Given the description of an element on the screen output the (x, y) to click on. 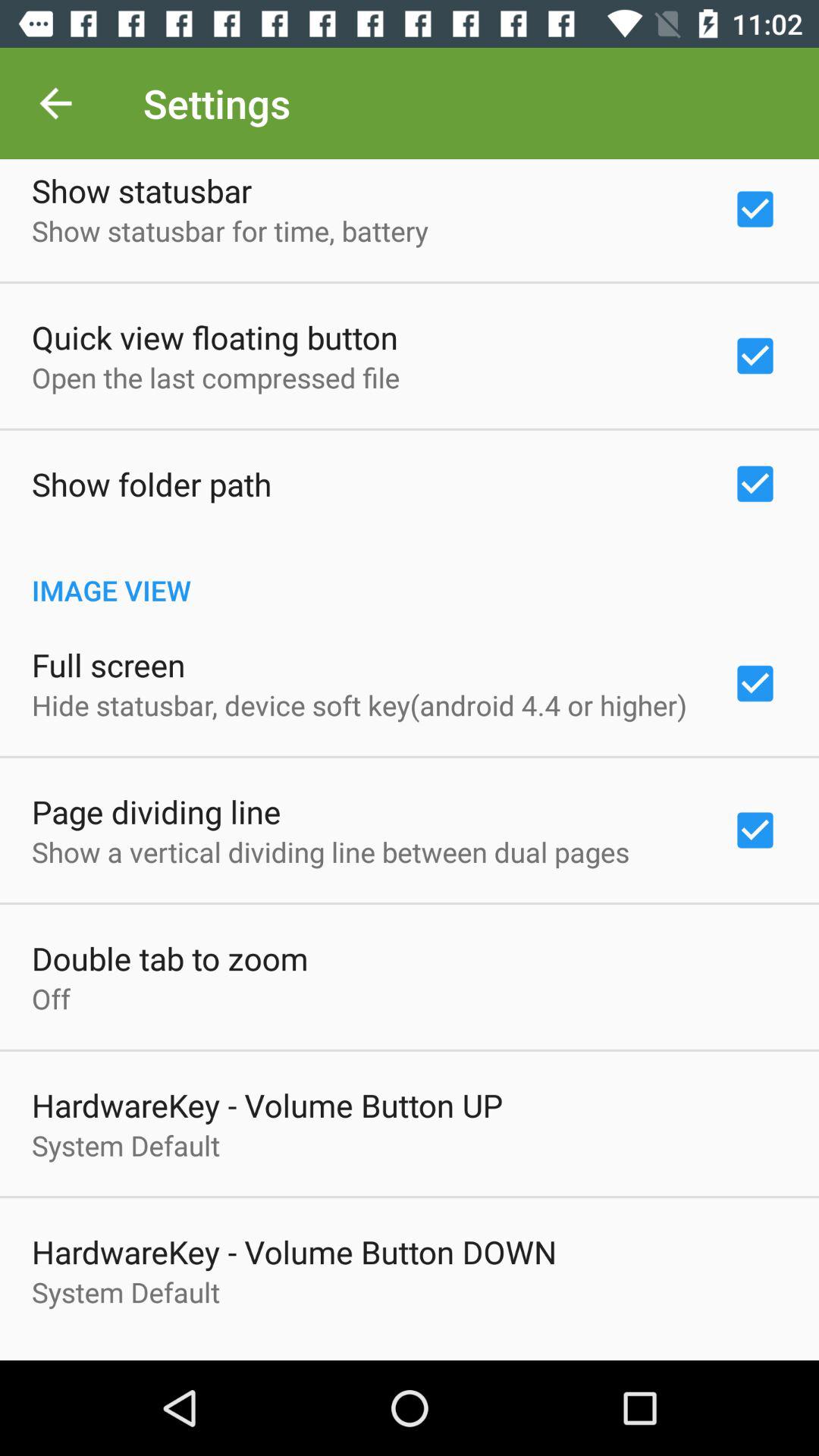
go back (55, 103)
